Given the description of an element on the screen output the (x, y) to click on. 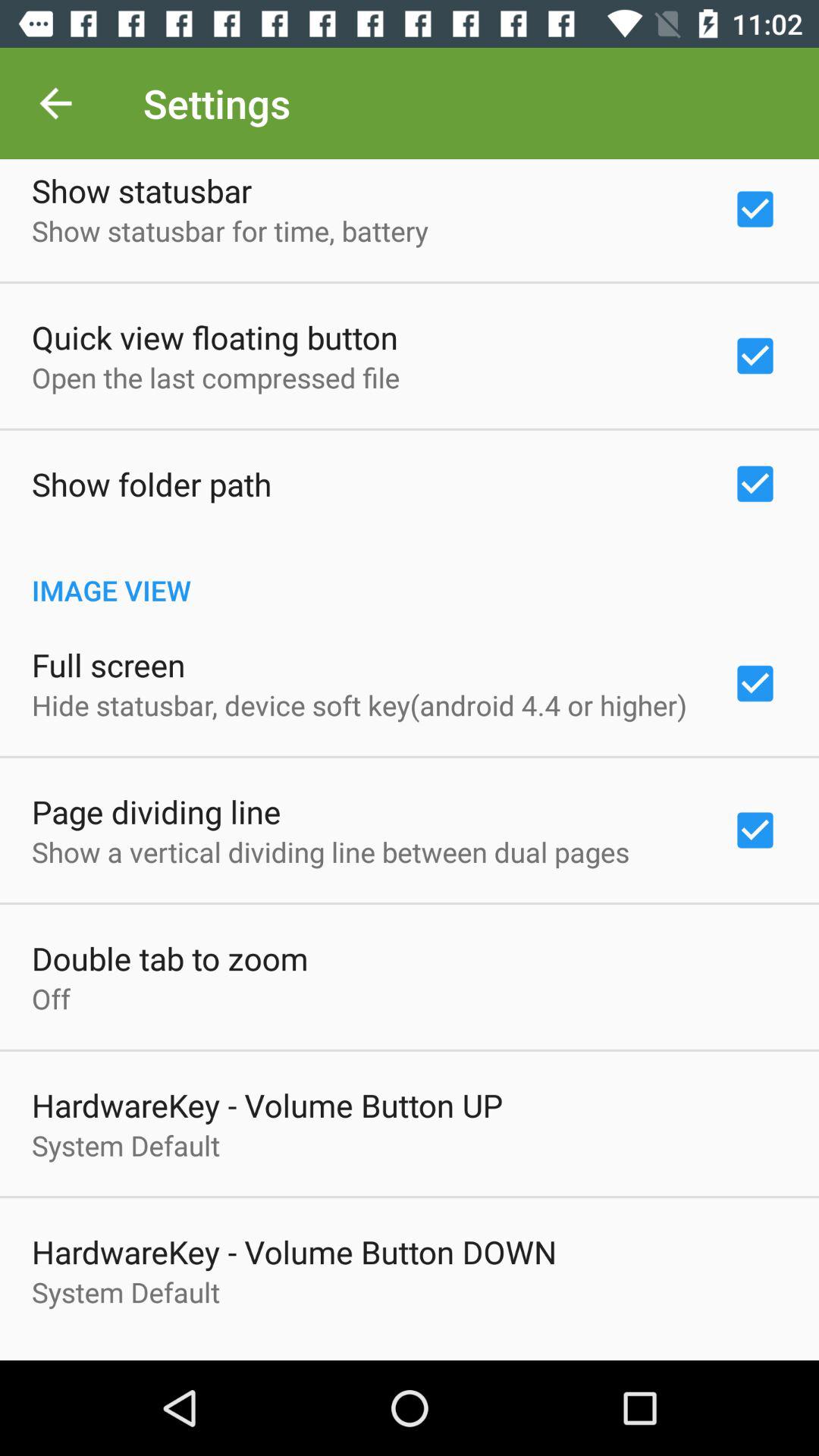
go back (55, 103)
